Given the description of an element on the screen output the (x, y) to click on. 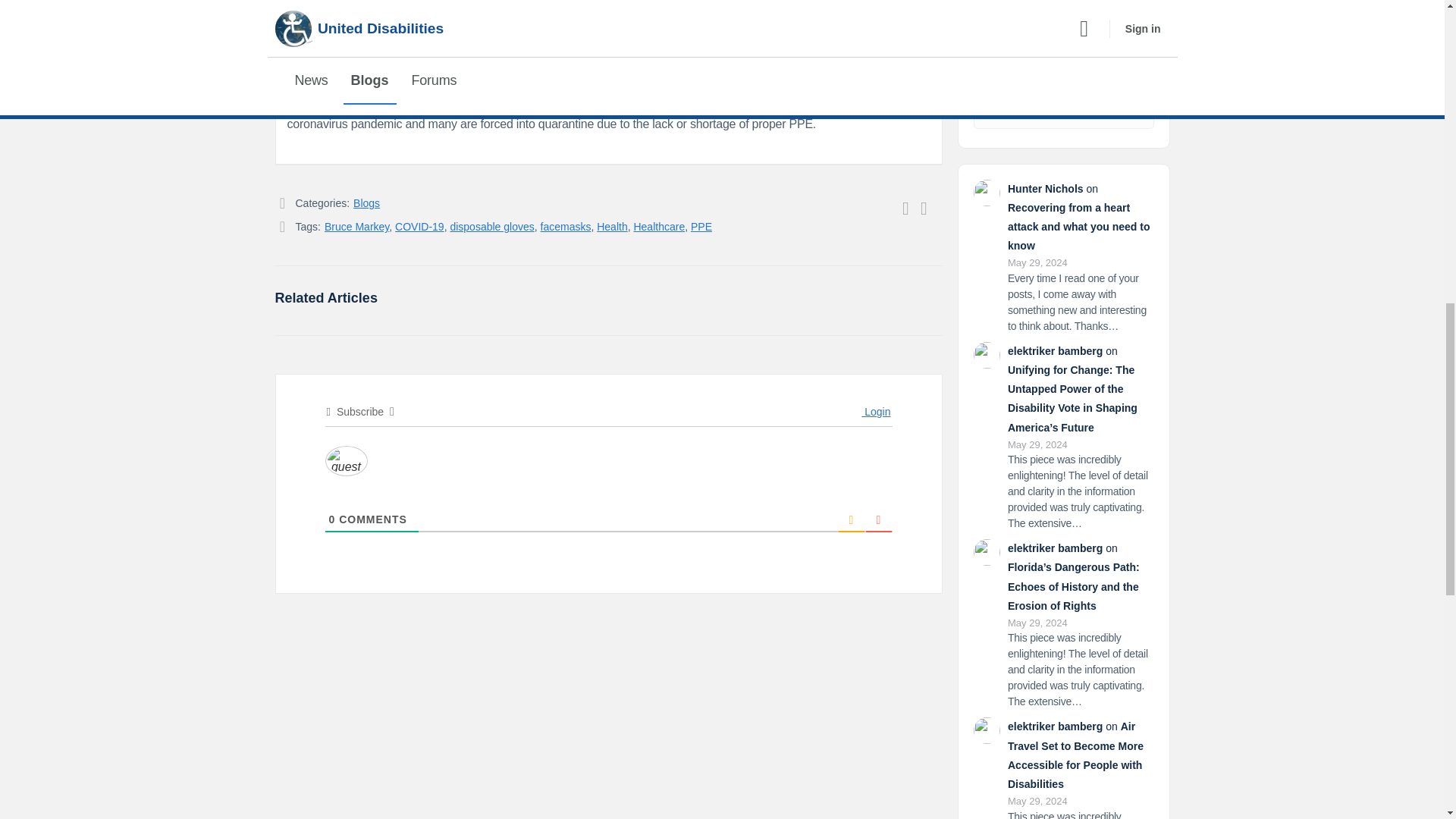
Blogs (366, 203)
COVID-19 (419, 226)
Bruce Markey (356, 226)
facemasks (565, 226)
Health (611, 226)
PPE (700, 226)
Healthcare (658, 226)
disposable gloves (491, 226)
